Given the description of an element on the screen output the (x, y) to click on. 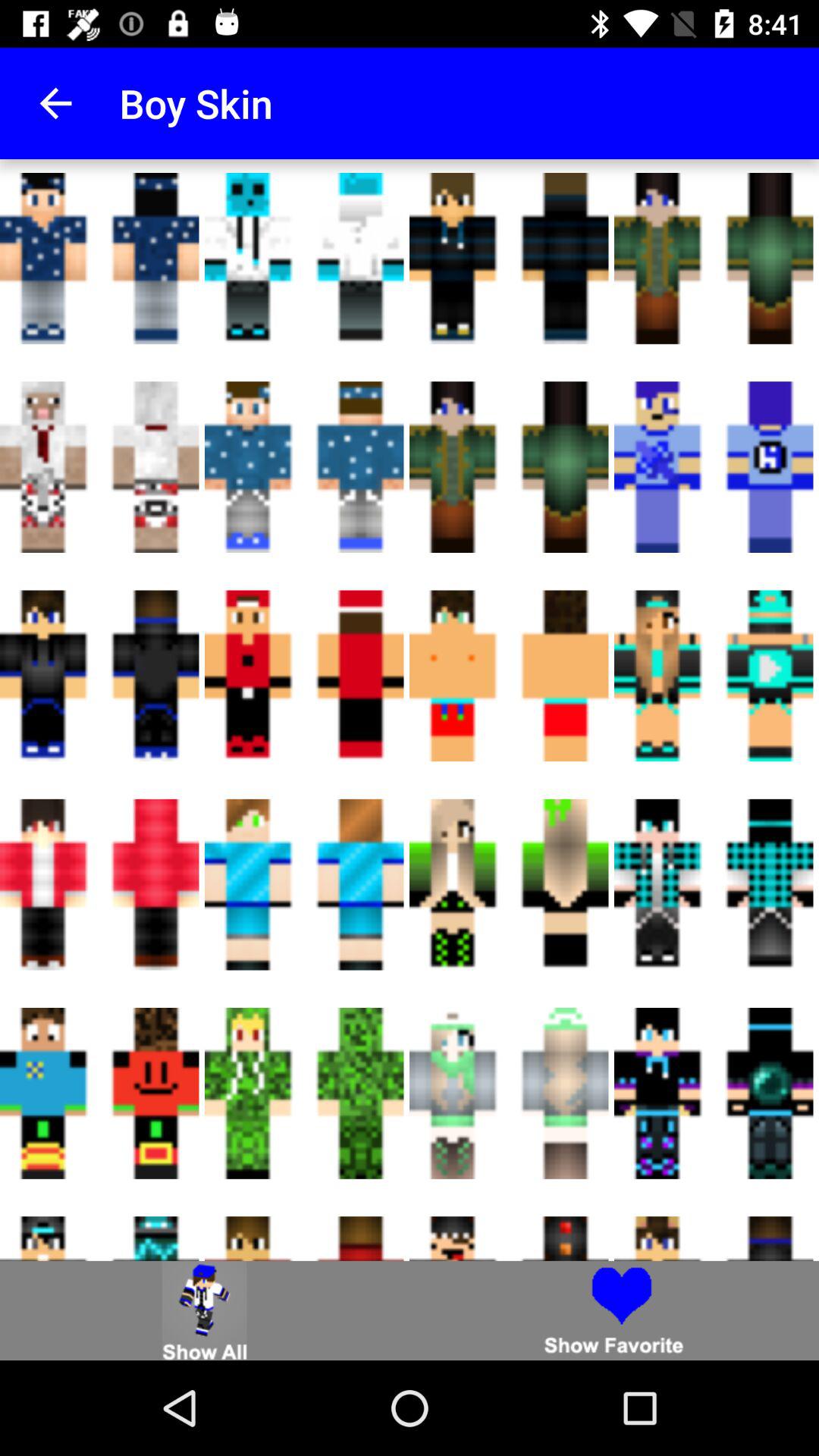
show all (204, 1310)
